Given the description of an element on the screen output the (x, y) to click on. 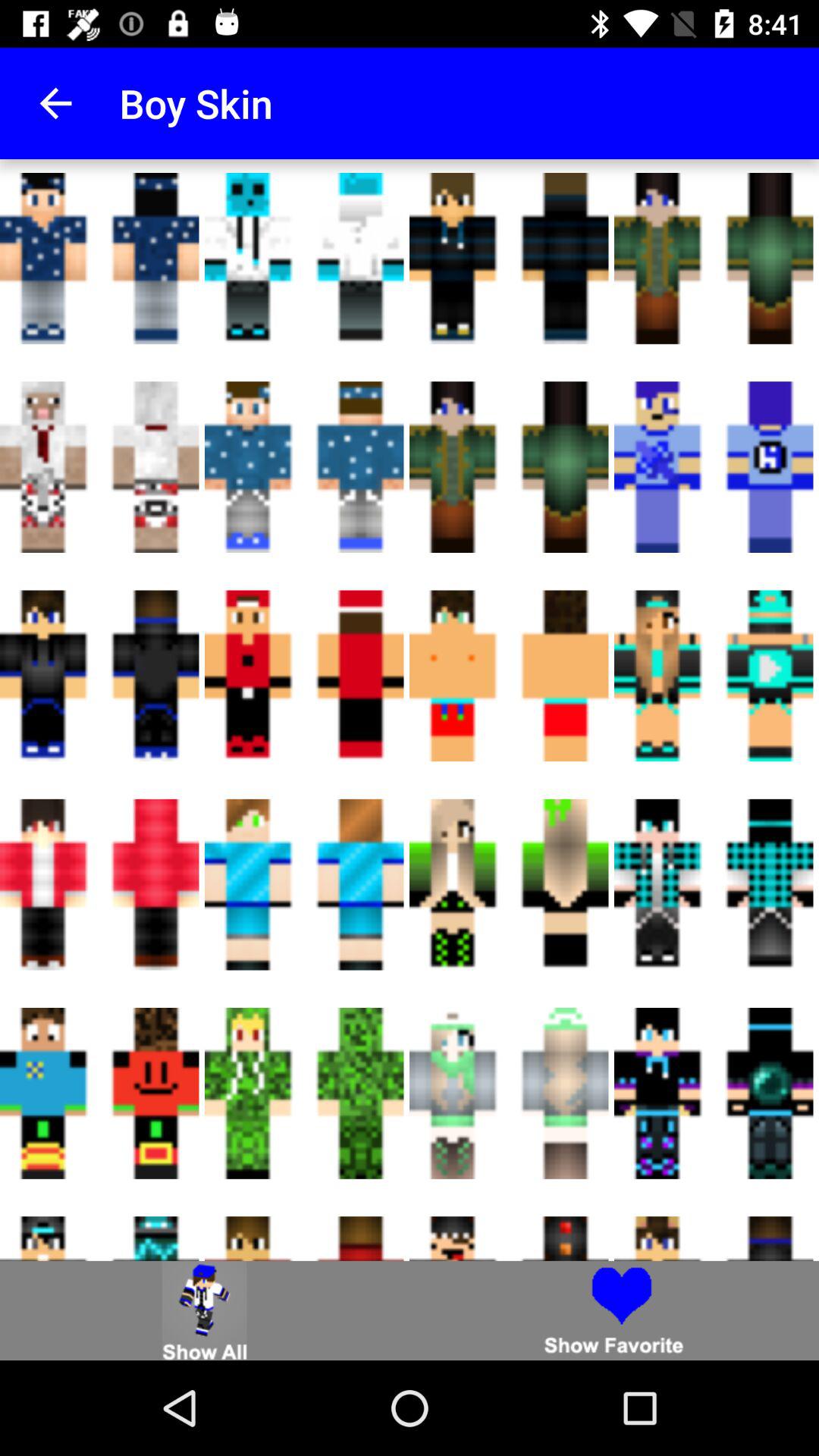
show all (204, 1310)
